Given the description of an element on the screen output the (x, y) to click on. 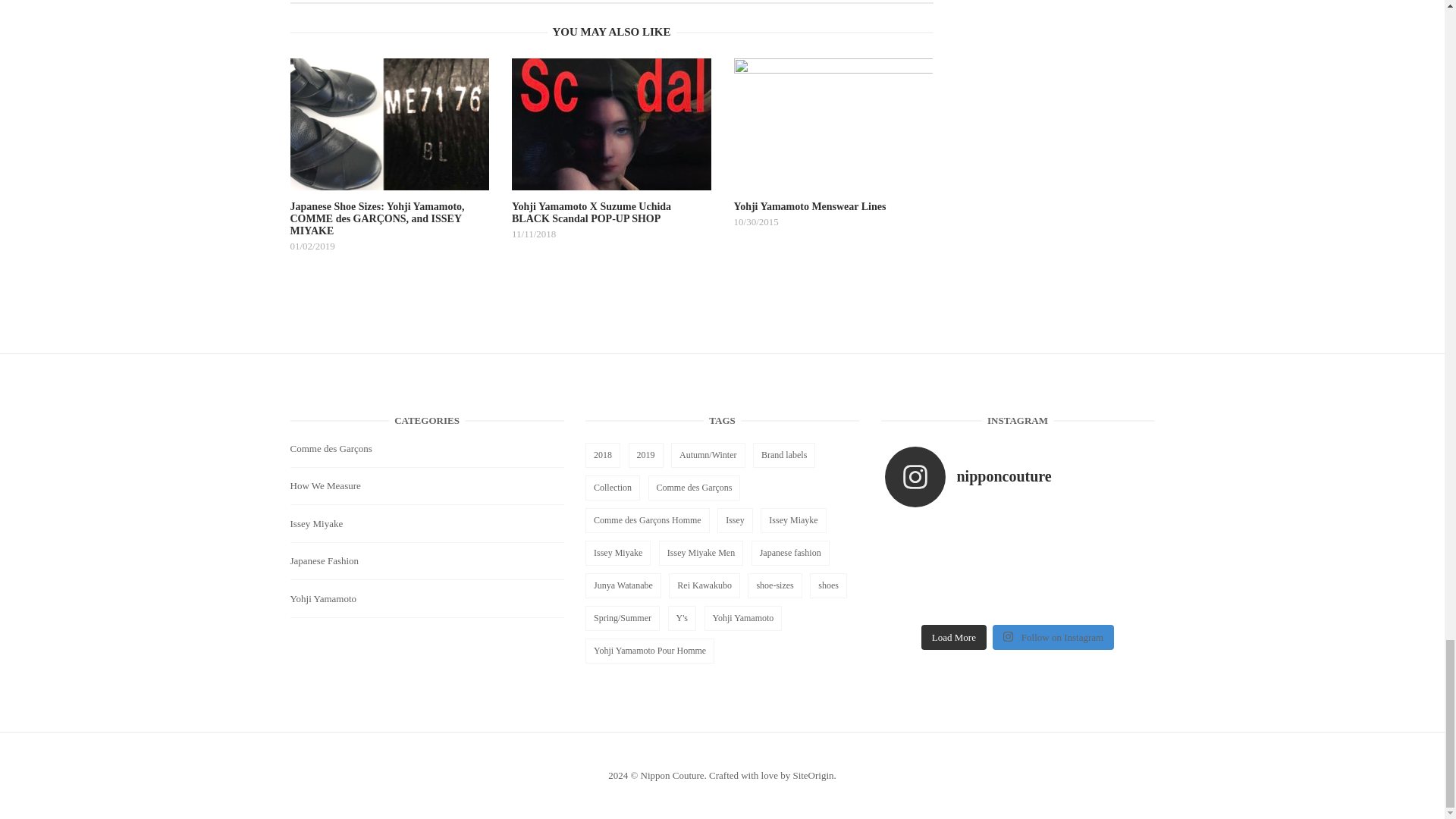
Issey (734, 520)
Yohji Yamamoto Menswear Lines (833, 173)
Issey Miyake (315, 523)
2019 (644, 455)
2018 (602, 455)
Japanese Fashion (323, 560)
Issey Miayke (792, 520)
Yohji Yamamoto (322, 598)
How We Measure (324, 485)
Yohji Yamamoto X Suzume Uchida BLACK Scandal POP-UP SHOP (611, 180)
